Given the description of an element on the screen output the (x, y) to click on. 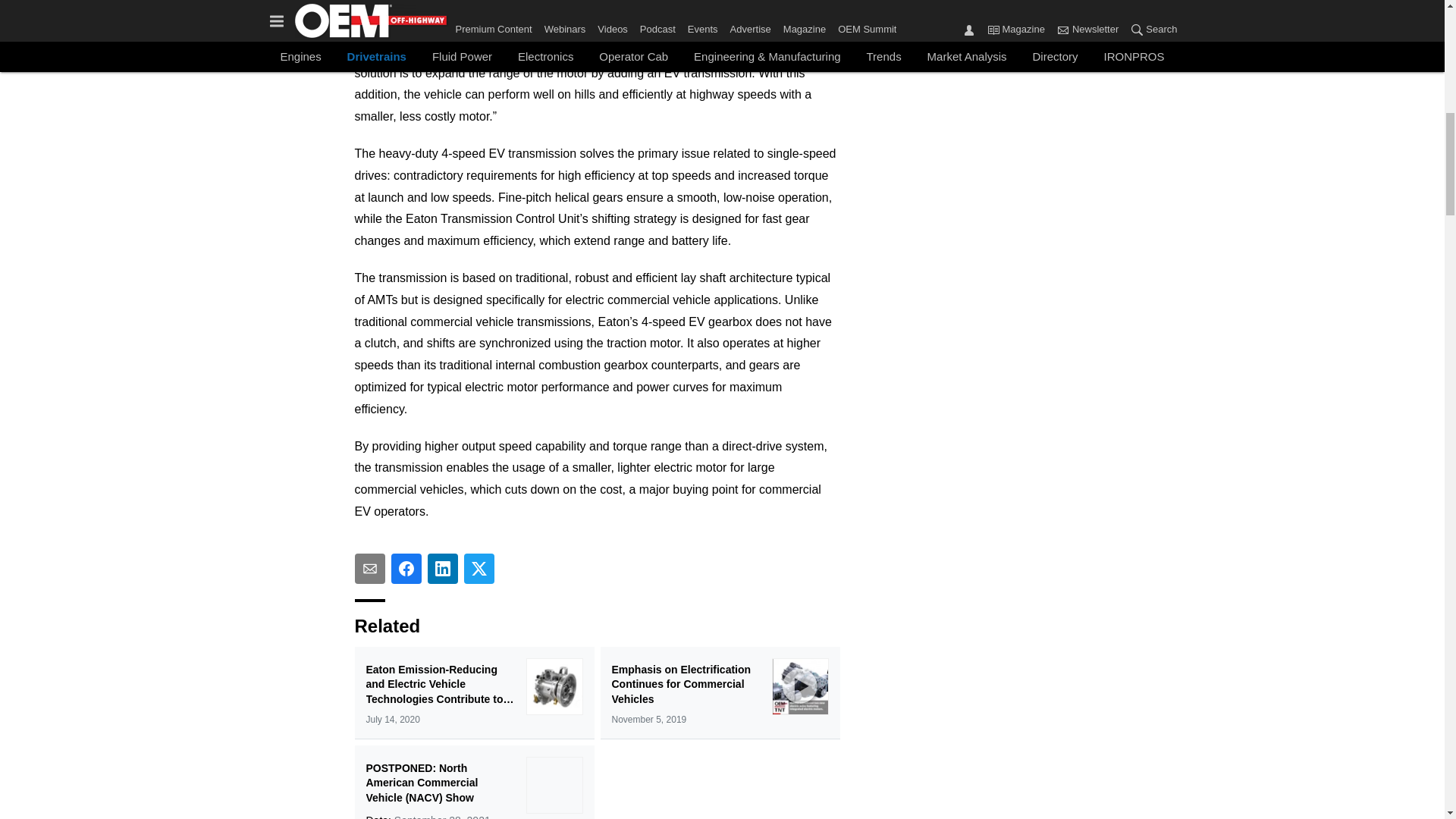
Share To twitter (479, 568)
Share To email (370, 568)
Share To facebook (406, 568)
Share To linkedin (443, 568)
